Given the description of an element on the screen output the (x, y) to click on. 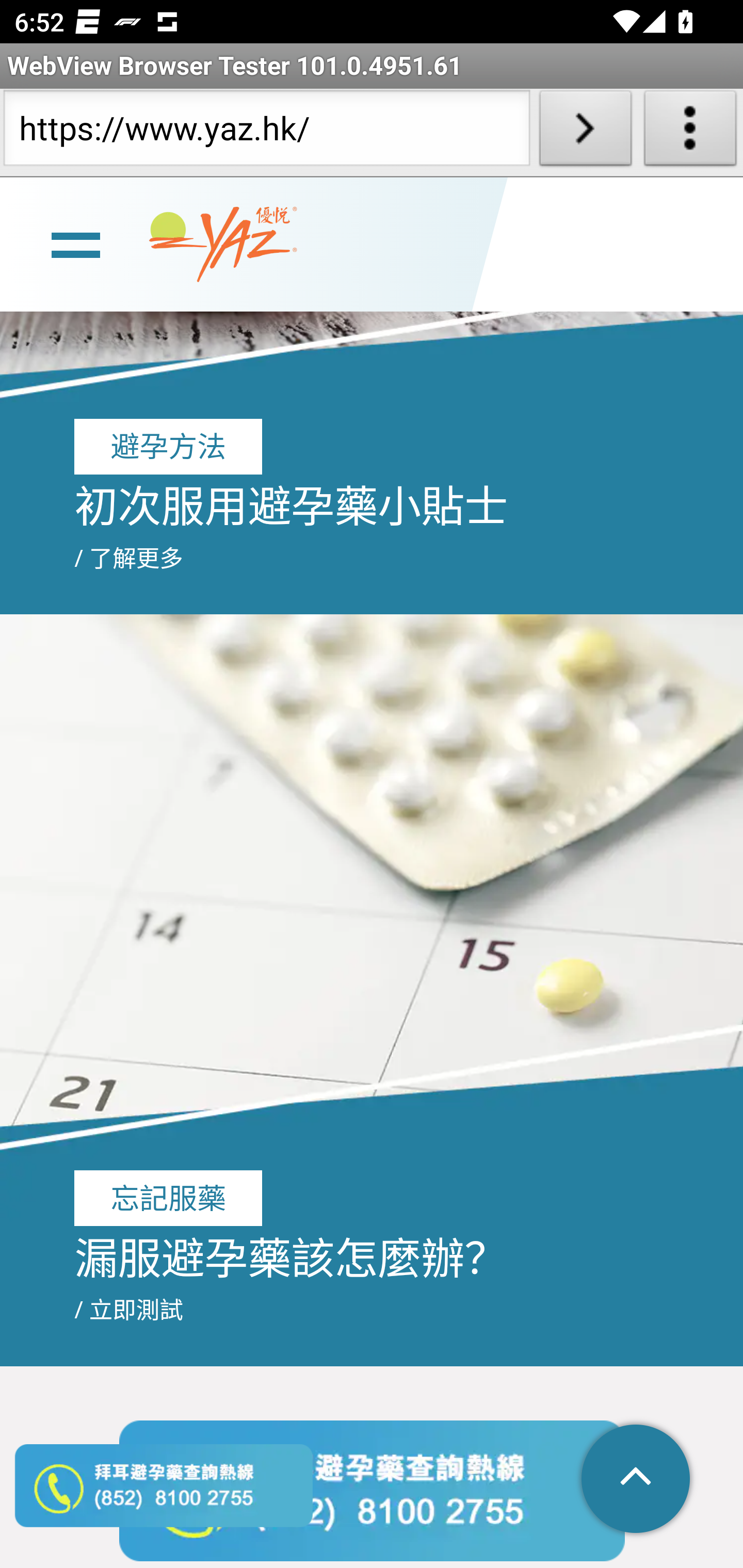
https://www.yaz.hk/ (266, 132)
Load URL (585, 132)
About WebView (690, 132)
www.yaz (222, 244)
line Toggle burger menu (75, 242)
/ 了解更多 (128, 556)
/ 立即測試 (128, 1309)
tel:+85281002755 (371, 1490)
 (636, 1480)
tel:+85281002755 (164, 1485)
